Given the description of an element on the screen output the (x, y) to click on. 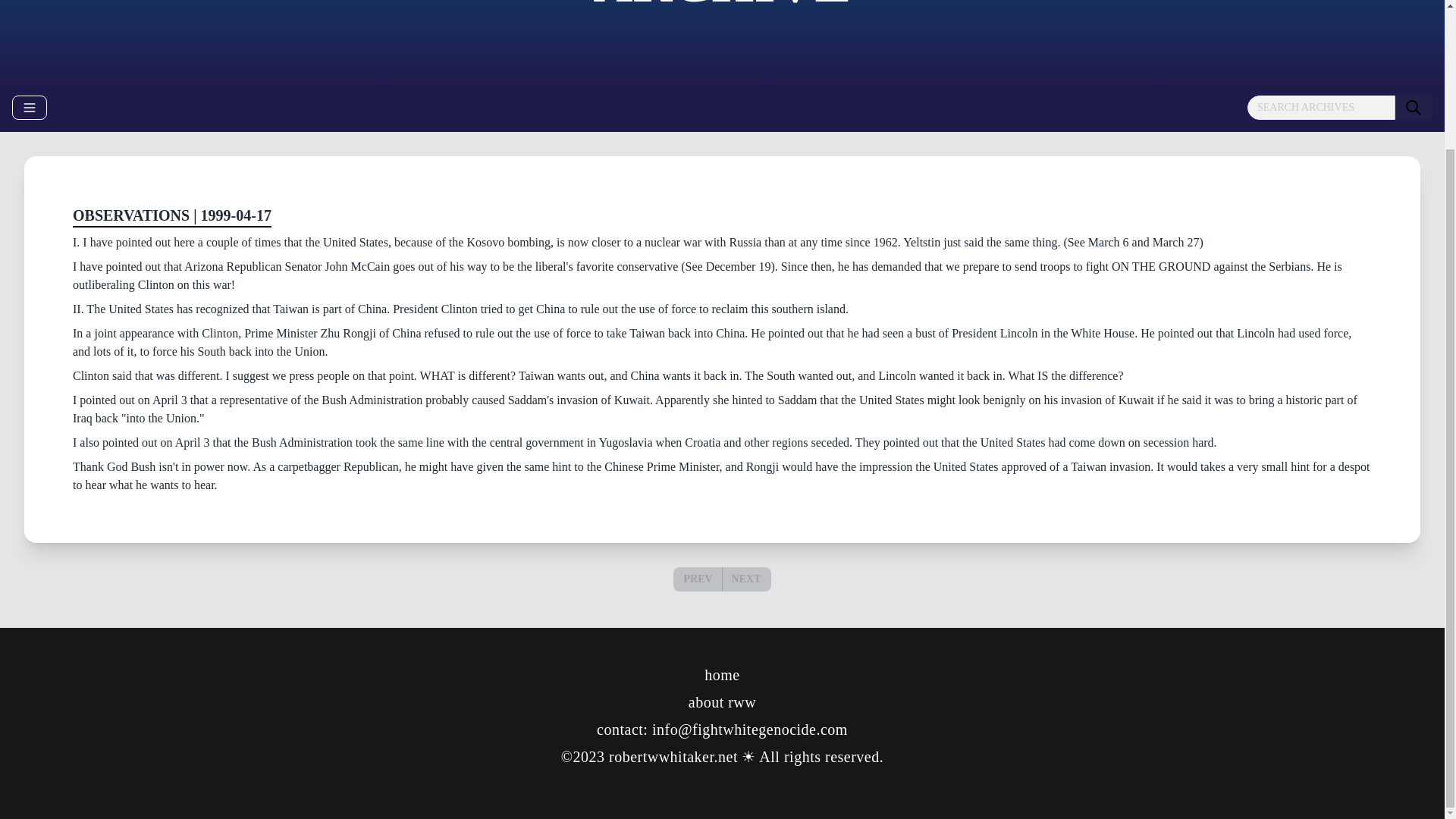
about rww (721, 701)
PREV (697, 579)
NEXT (746, 578)
THE ROBERT W. WHITAKER ARCHIVE (721, 5)
PREV (696, 578)
NEXT (746, 579)
home (721, 674)
